Given the description of an element on the screen output the (x, y) to click on. 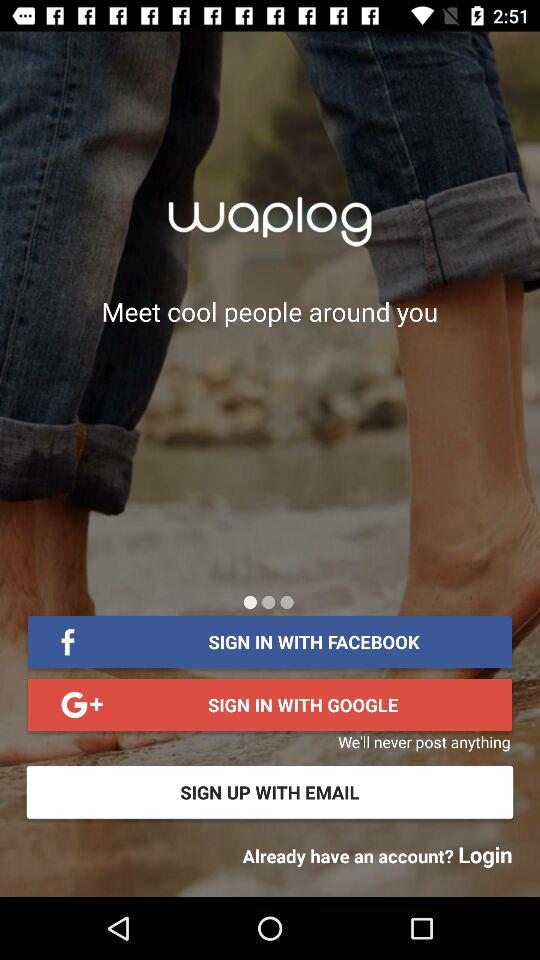
scroll until the already have an item (377, 854)
